Given the description of an element on the screen output the (x, y) to click on. 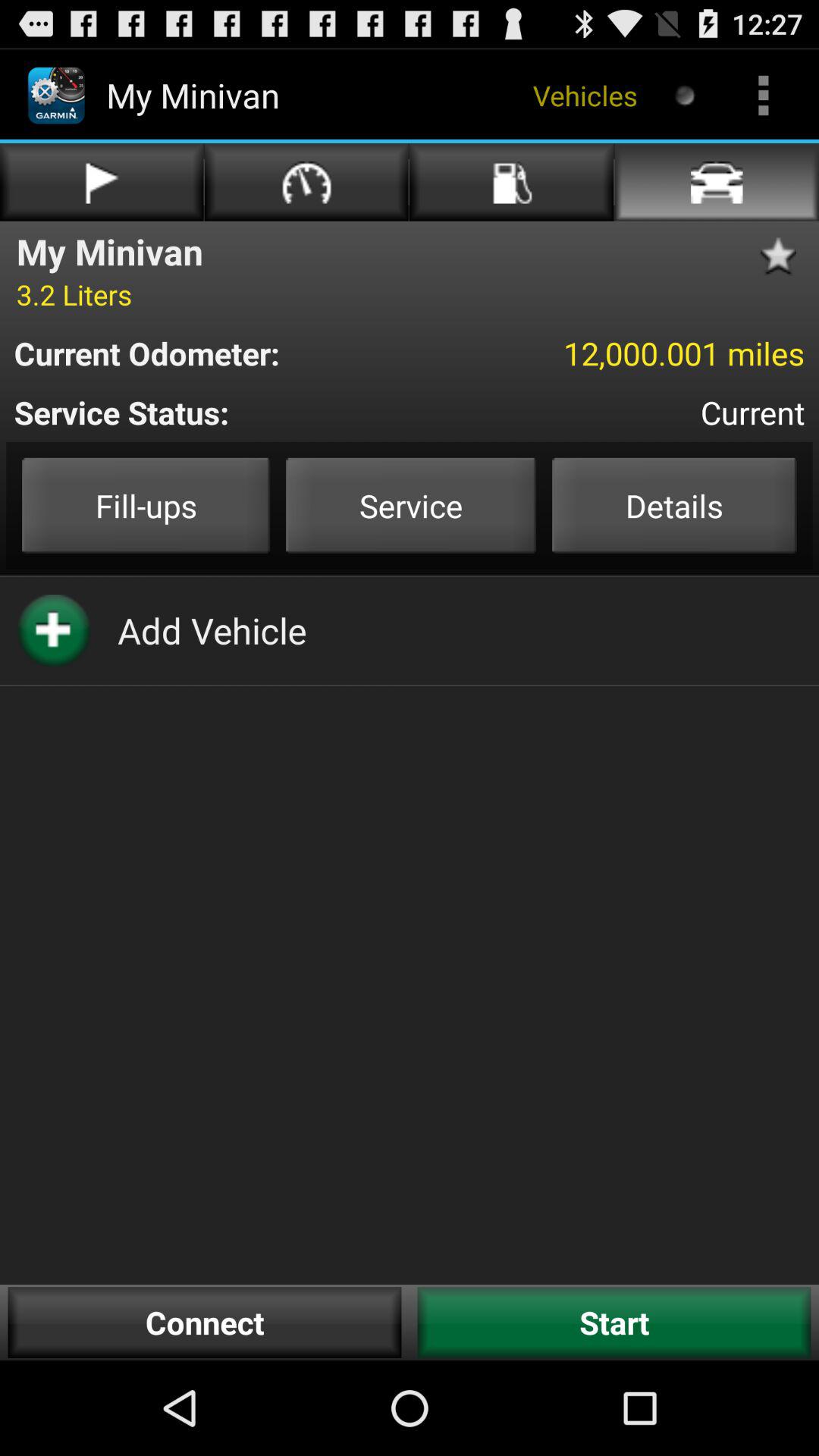
launch the button next to the service icon (674, 505)
